Given the description of an element on the screen output the (x, y) to click on. 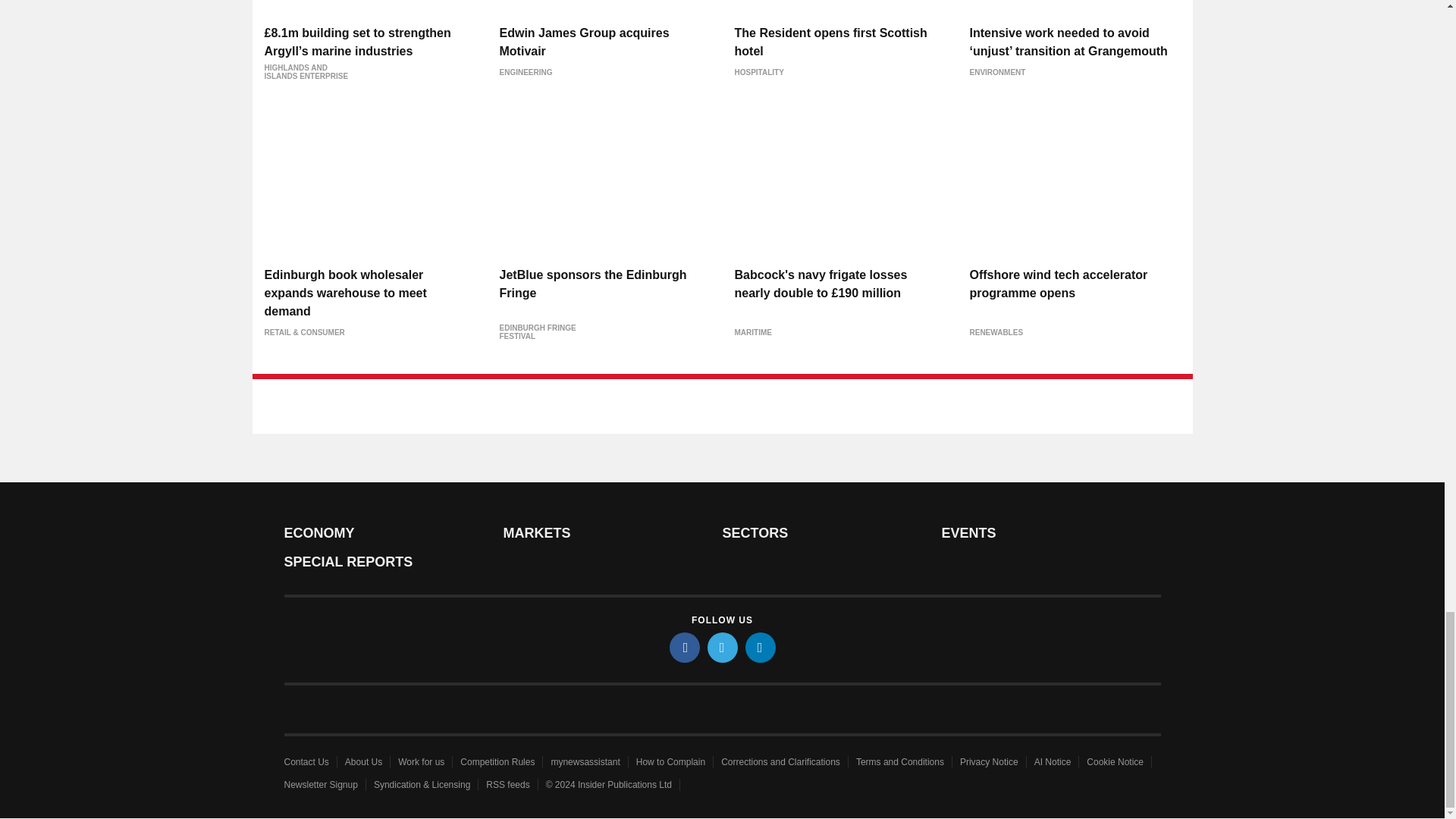
linkedin (759, 647)
facebook (683, 647)
twitter (721, 647)
